Given the description of an element on the screen output the (x, y) to click on. 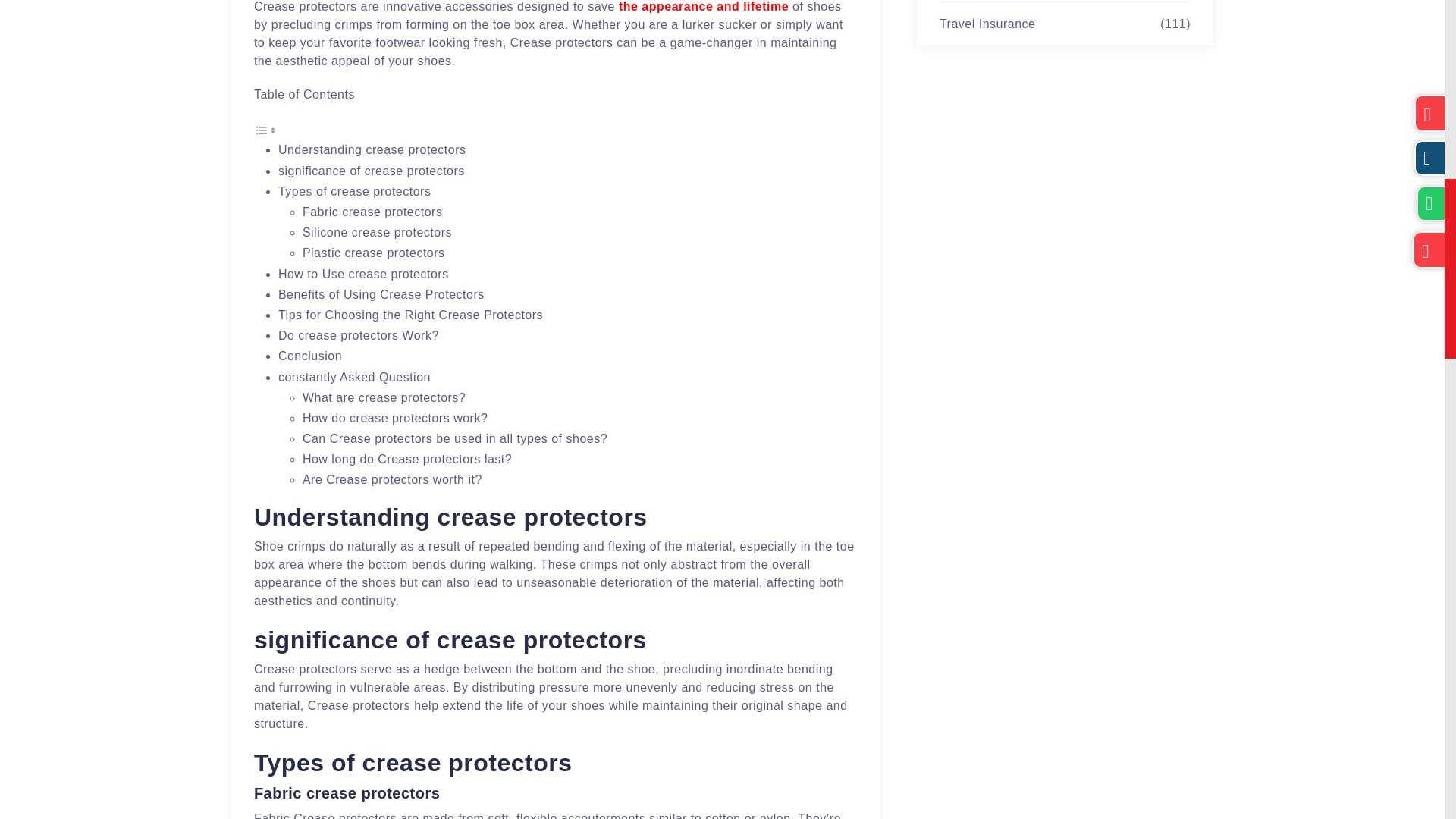
Do crease protectors Work? (358, 335)
Benefits of Using Crease Protectors (381, 294)
significance of crease protectors (371, 170)
Understanding crease protectors (371, 149)
How to Use crease protectors (363, 273)
Fabric crease protectors (372, 211)
Conclusion (310, 355)
What are crease protectors? (383, 397)
Benefits of Using Crease Protectors (381, 294)
Silicone crease protectors (376, 232)
constantly Asked Question (354, 376)
Tips for Choosing the Right Crease Protectors (410, 314)
Are Crease protectors worth it? (391, 479)
Types of crease protectors  (354, 191)
Conclusion (310, 355)
